Given the description of an element on the screen output the (x, y) to click on. 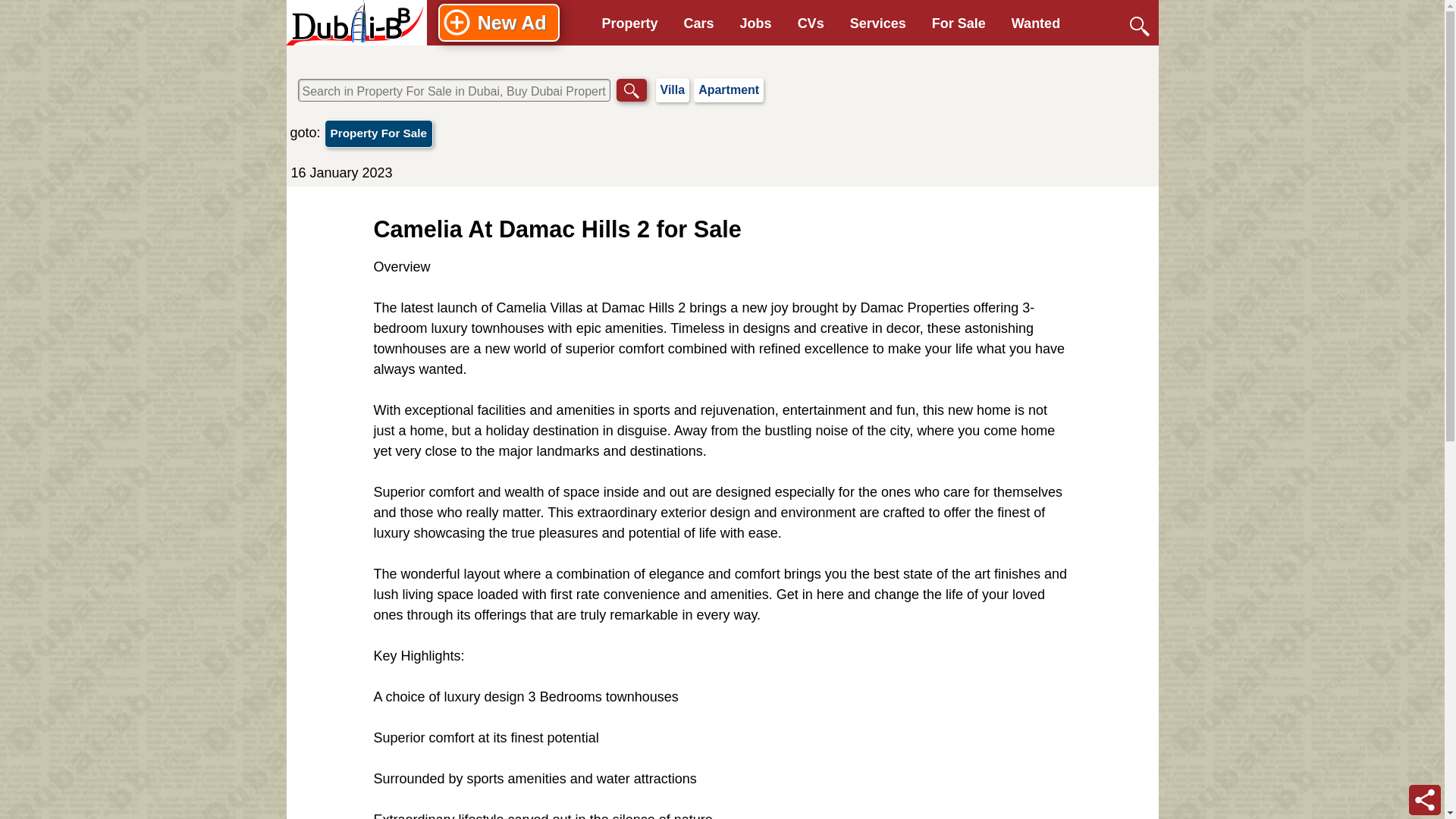
Create a new advert on Dubai-BB FREE (498, 22)
Dubai Bulletin Board - The Dubai Classifieds (356, 22)
